Given the description of an element on the screen output the (x, y) to click on. 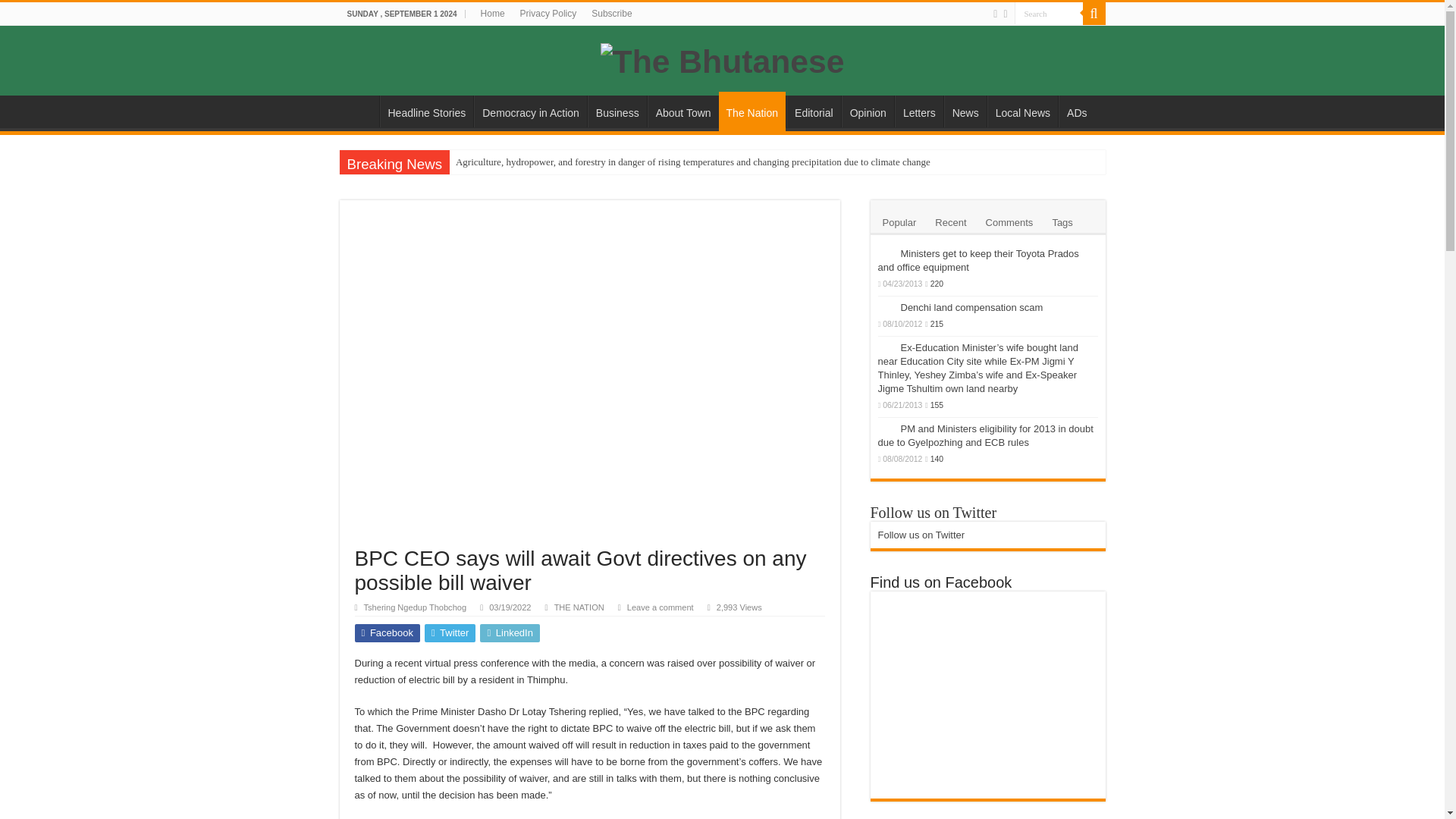
Opinion (867, 111)
HOME (358, 111)
Subscribe (611, 13)
Democracy in Action (530, 111)
The Nation (752, 111)
Local News (1022, 111)
Search (1048, 13)
Search (1094, 13)
Editorial (813, 111)
Search (1048, 13)
